Given the description of an element on the screen output the (x, y) to click on. 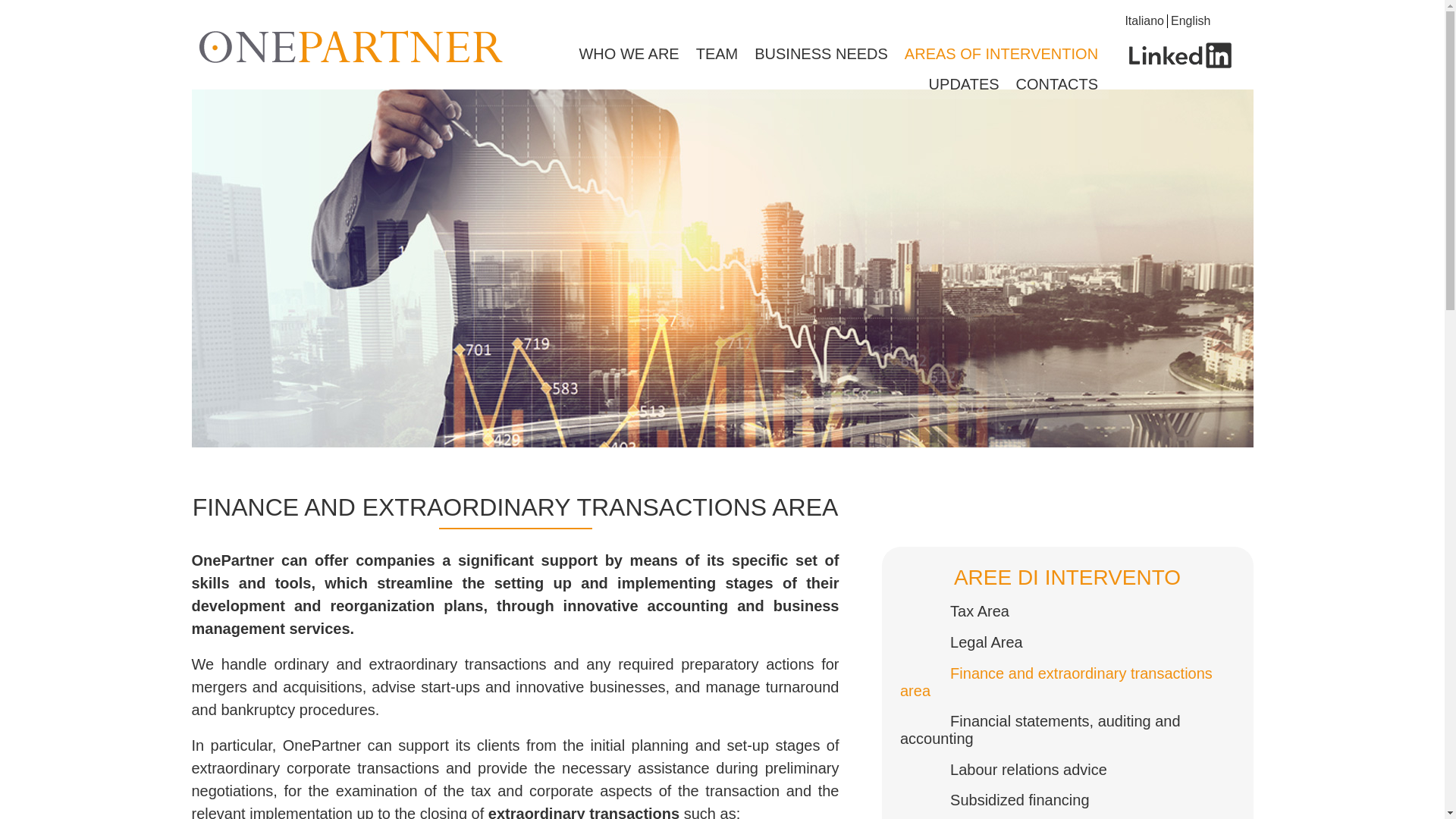
AREAS OF INTERVENTION (1000, 53)
Legal Area (970, 641)
TEAM (717, 53)
BUSINESS NEEDS (820, 53)
UPDATES (964, 84)
Finance and extraordinary transactions area (1055, 682)
WHO WE ARE (628, 53)
Italiano (1143, 20)
Tax Area (963, 610)
FINANCE AND EXTRAORDINARY TRANSACTIONS AREA (515, 506)
